Given the description of an element on the screen output the (x, y) to click on. 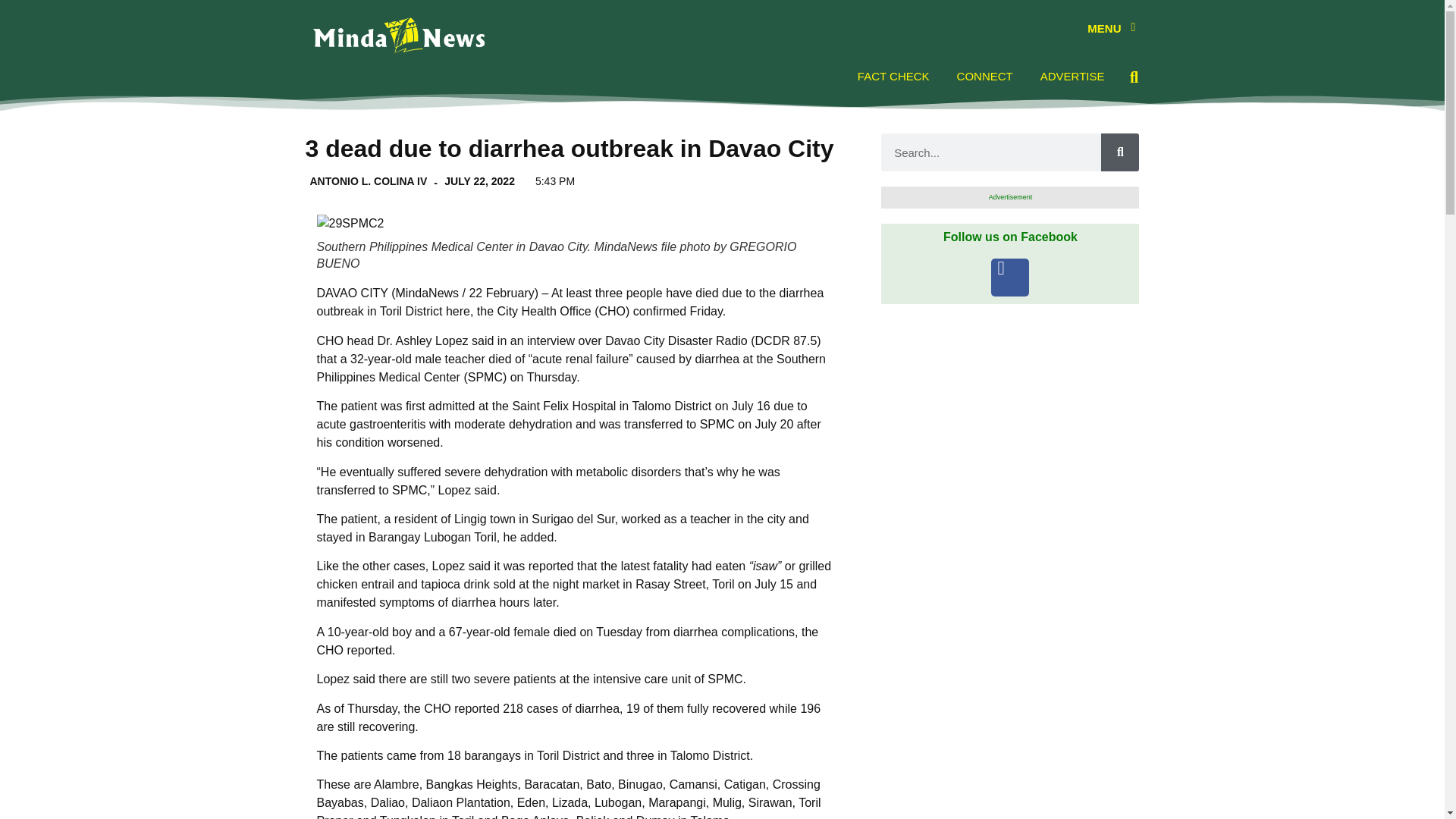
FACT CHECK (893, 75)
3 dead due to diarrhea outbreak in Davao City 1 (350, 223)
ANTONIO L. COLINA IV (365, 181)
JULY 22, 2022 (475, 181)
MENU (1104, 28)
Follow us on Facebook (1010, 236)
ADVERTISE (1072, 75)
CONNECT (984, 75)
